Given the description of an element on the screen output the (x, y) to click on. 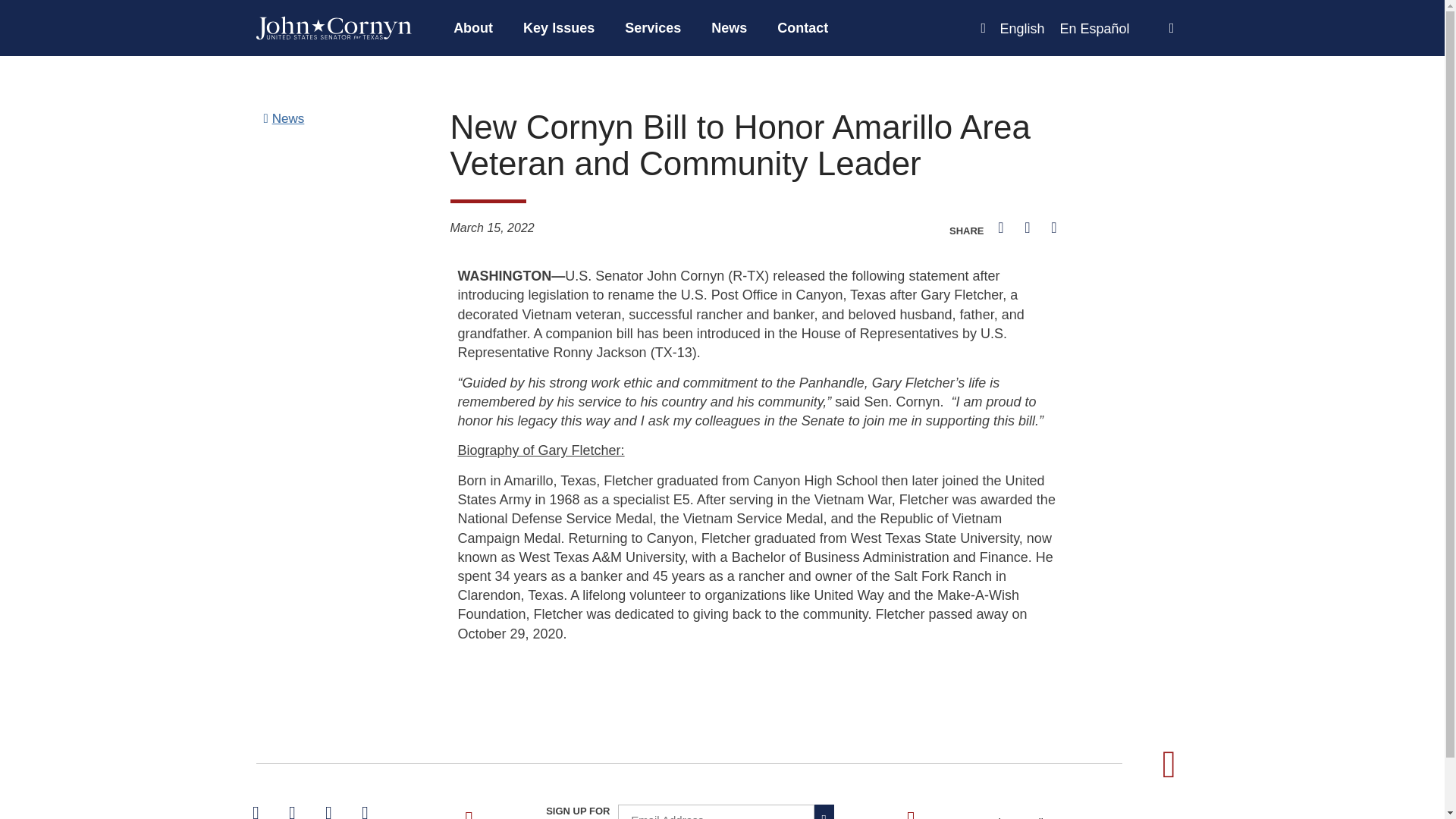
Services (652, 27)
Menu (682, 27)
About (473, 27)
Contact (802, 27)
Key Issues (559, 27)
Share (912, 239)
News (728, 27)
